Given the description of an element on the screen output the (x, y) to click on. 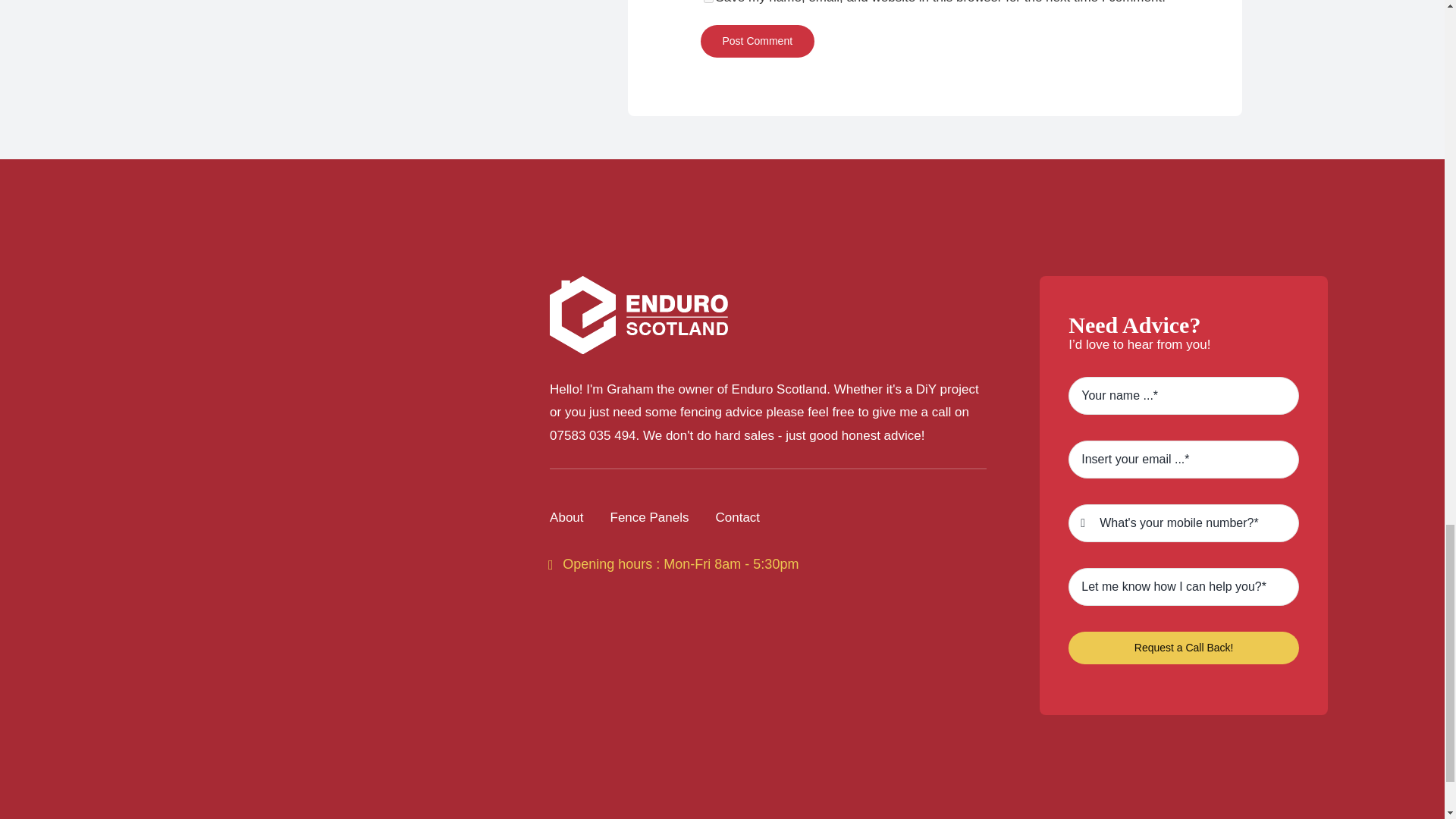
Post Comment (757, 41)
Opening hours : Mon-Fri 8am - 5:30pm (673, 564)
About (566, 517)
Post Comment (757, 41)
Request a Call Back! (1183, 647)
Contact (737, 517)
yes (708, 1)
Fence Panels (649, 517)
